Given the description of an element on the screen output the (x, y) to click on. 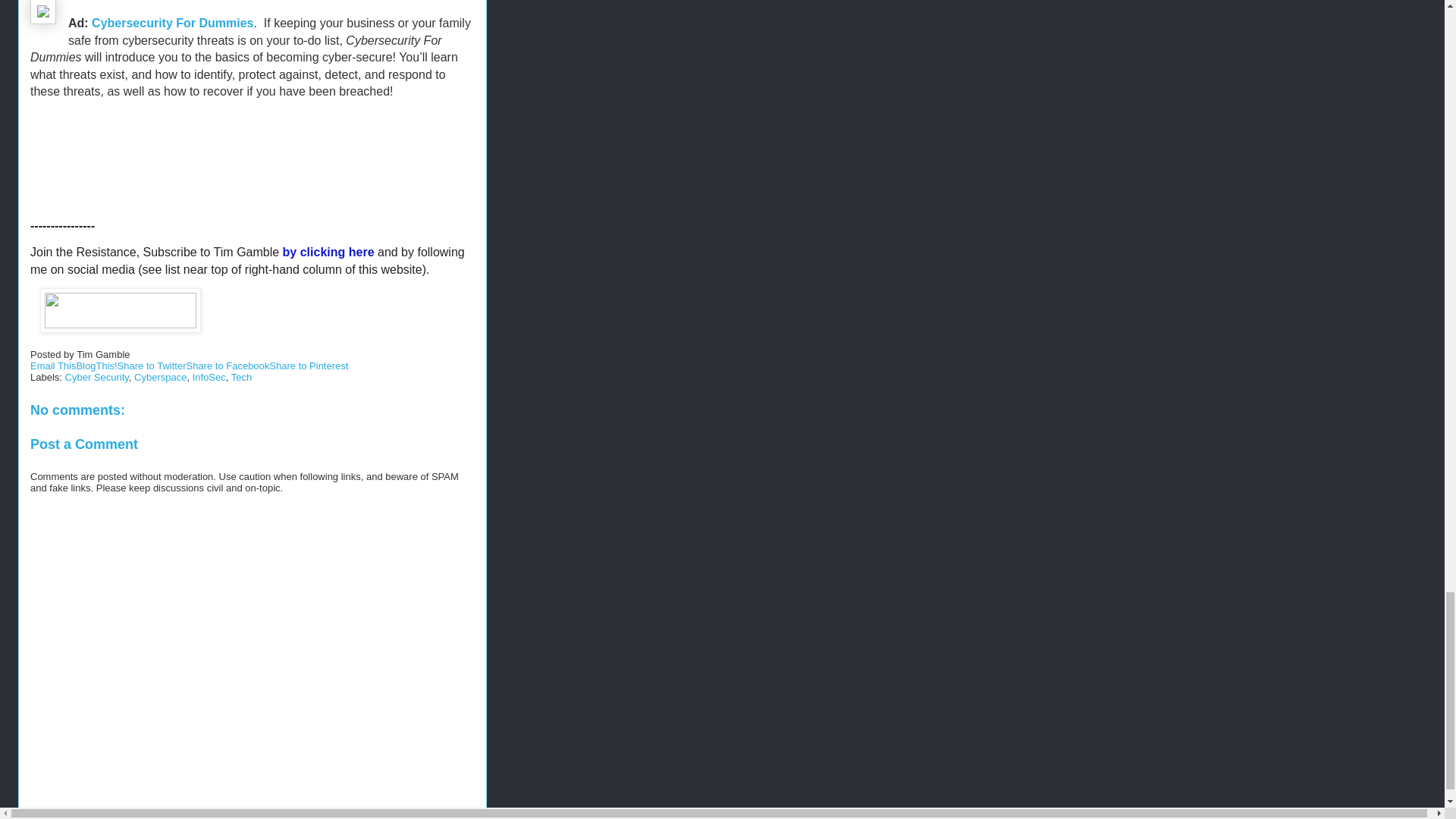
Share to Twitter (151, 365)
Share to Facebook (227, 365)
Cybersecurity For Dummies (172, 22)
Share to Pinterest (308, 365)
Tech (241, 377)
by clicking here (328, 251)
Share to Facebook (227, 365)
InfoSec (208, 377)
BlogThis! (95, 365)
Email This (52, 365)
